Given the description of an element on the screen output the (x, y) to click on. 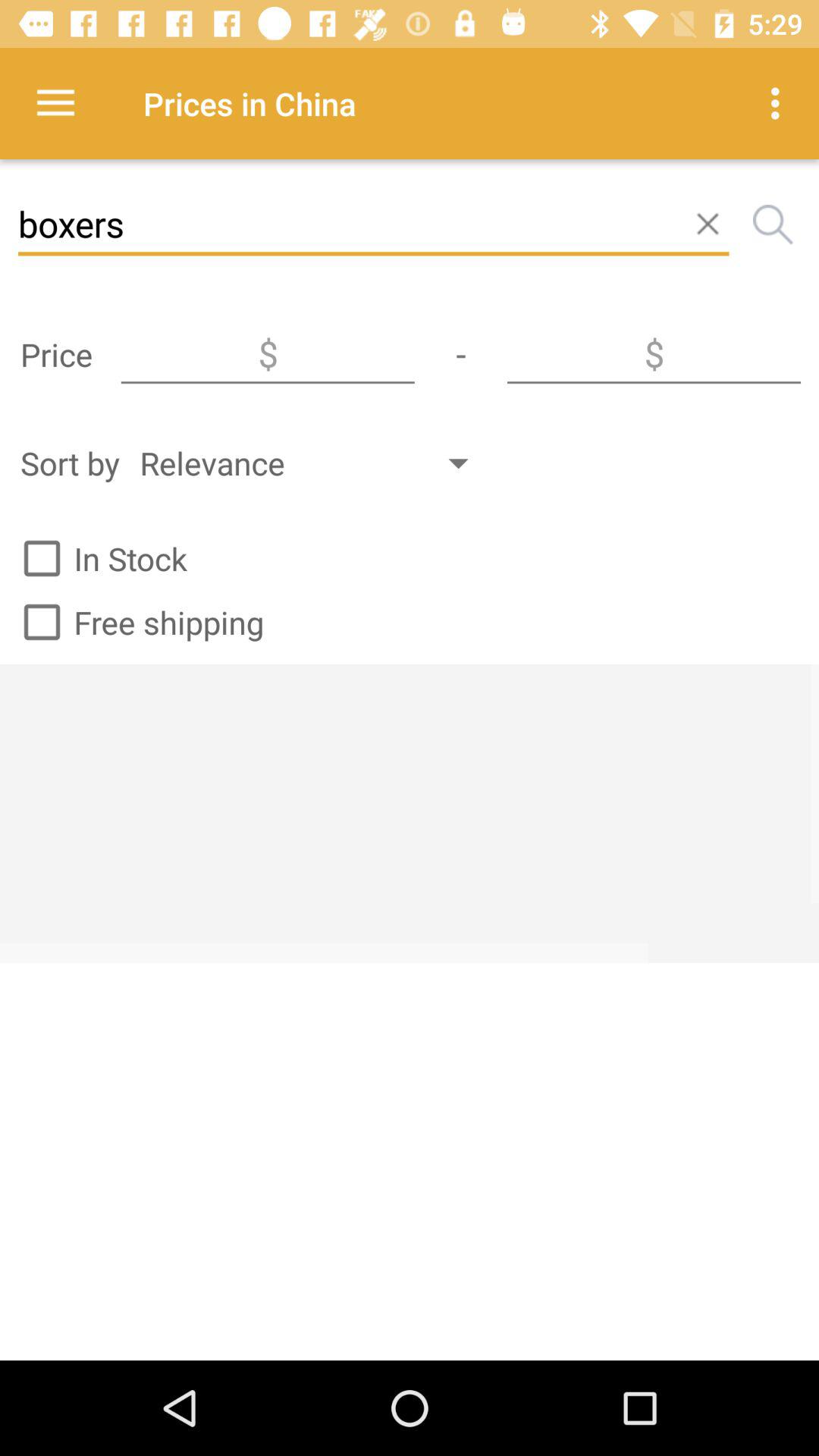
scroll until in stock (98, 558)
